Given the description of an element on the screen output the (x, y) to click on. 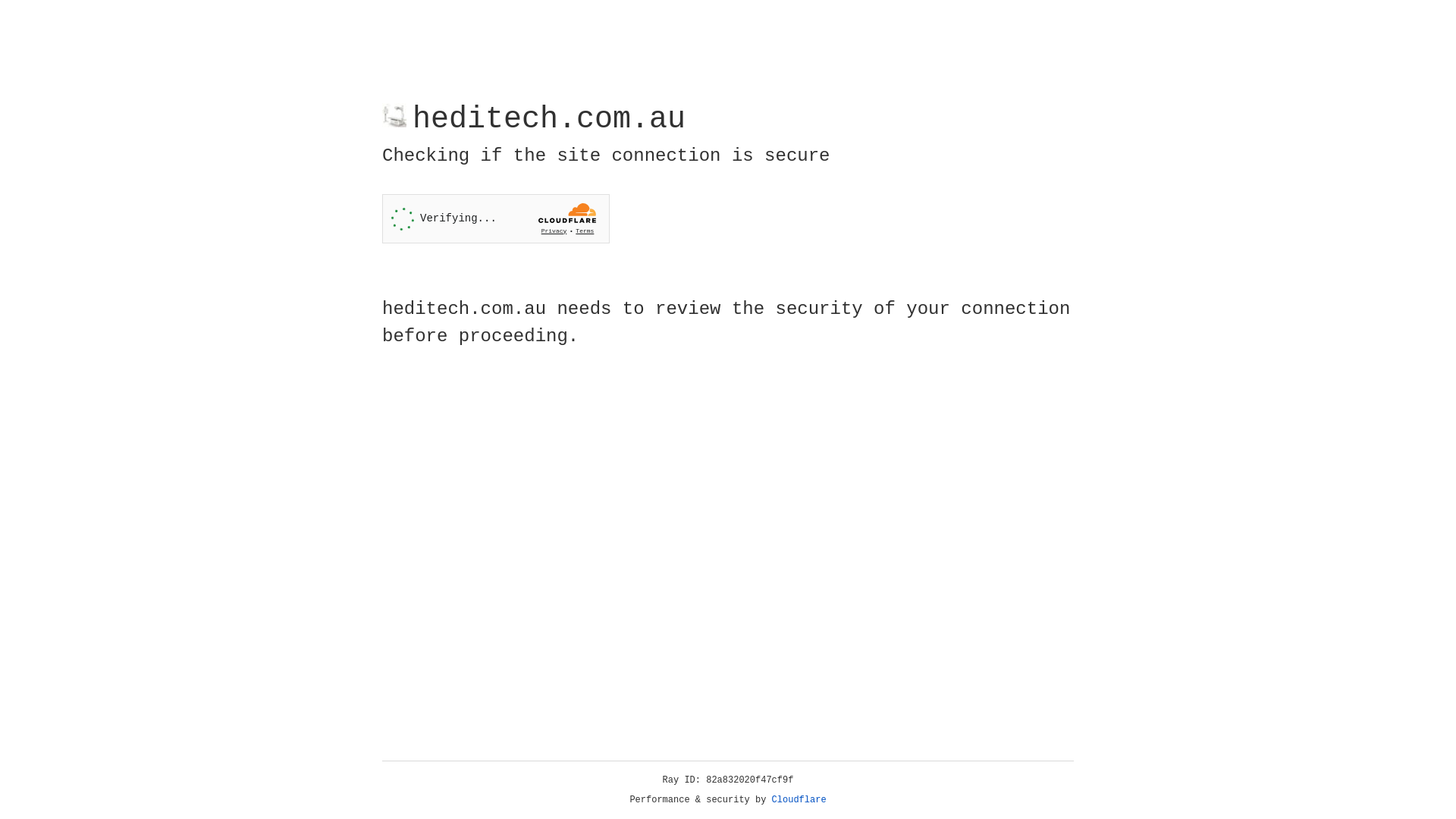
Cloudflare Element type: text (798, 799)
Widget containing a Cloudflare security challenge Element type: hover (495, 218)
